Given the description of an element on the screen output the (x, y) to click on. 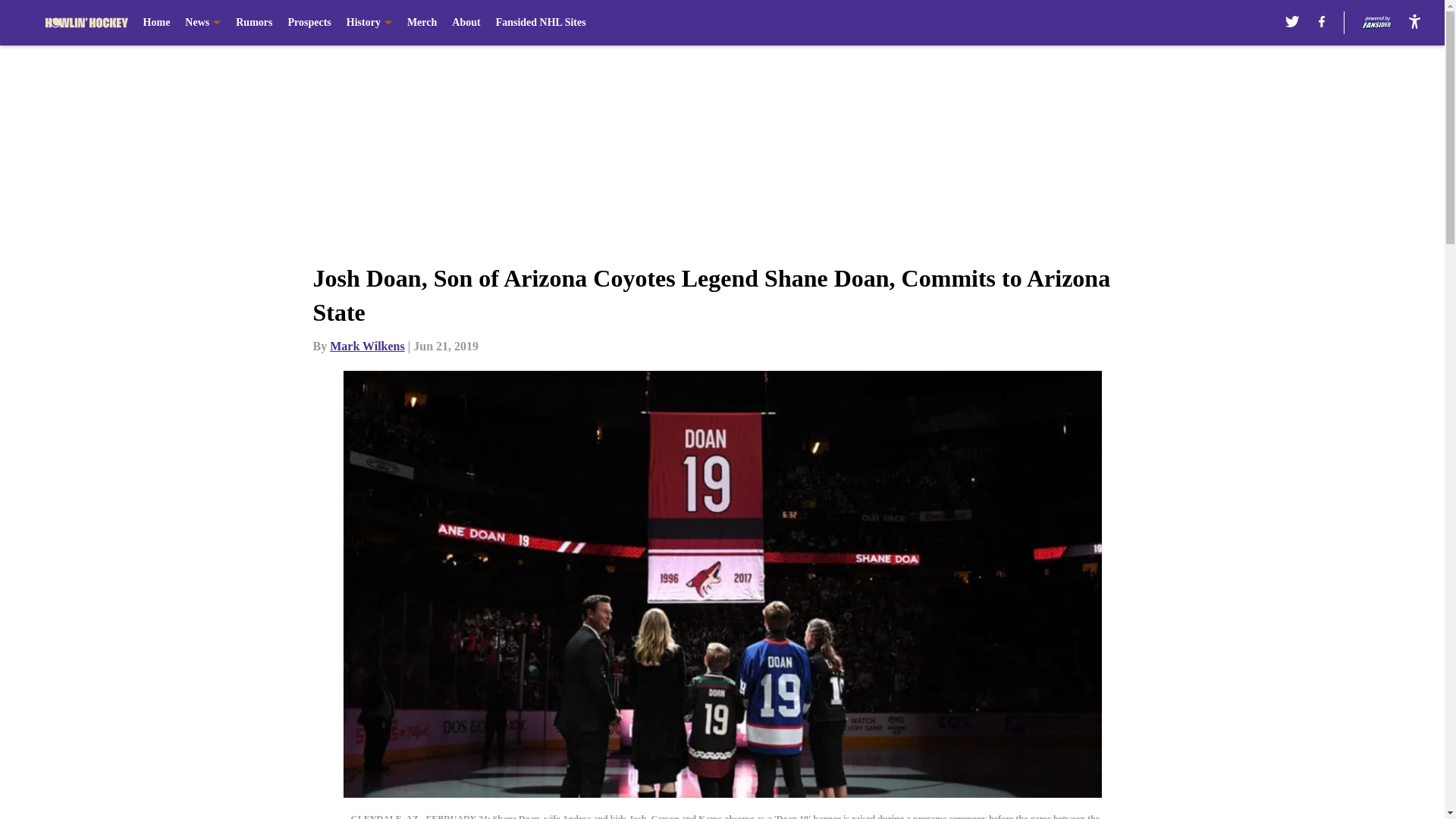
Merch (421, 22)
Rumors (253, 22)
Prospects (308, 22)
Fansided NHL Sites (541, 22)
About (465, 22)
Mark Wilkens (367, 345)
Home (156, 22)
